Given the description of an element on the screen output the (x, y) to click on. 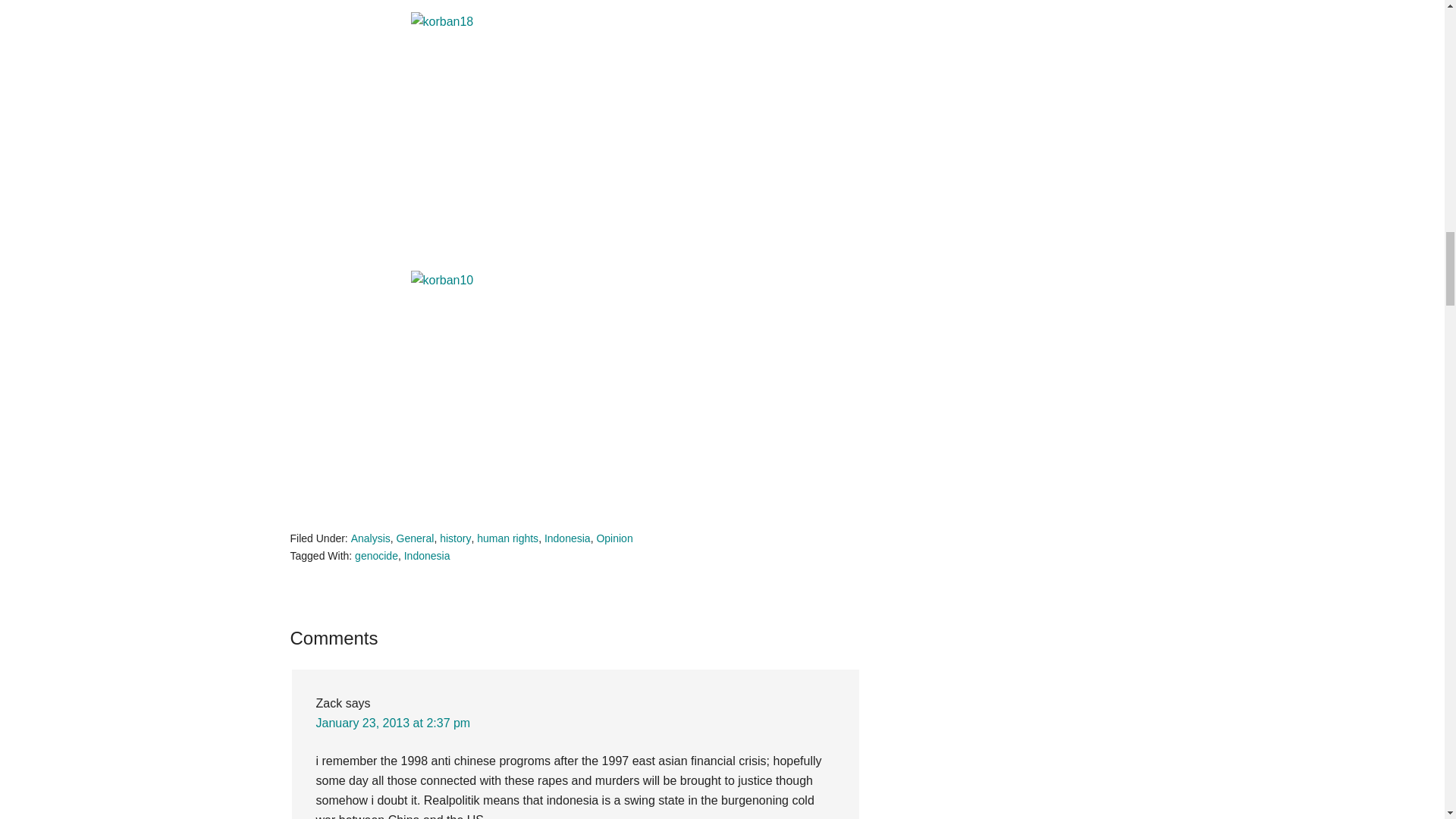
human rights (507, 538)
Indonesia (426, 555)
Indonesia (567, 538)
Opinion (613, 538)
history (454, 538)
General (414, 538)
genocide (376, 555)
Analysis (370, 538)
